Given the description of an element on the screen output the (x, y) to click on. 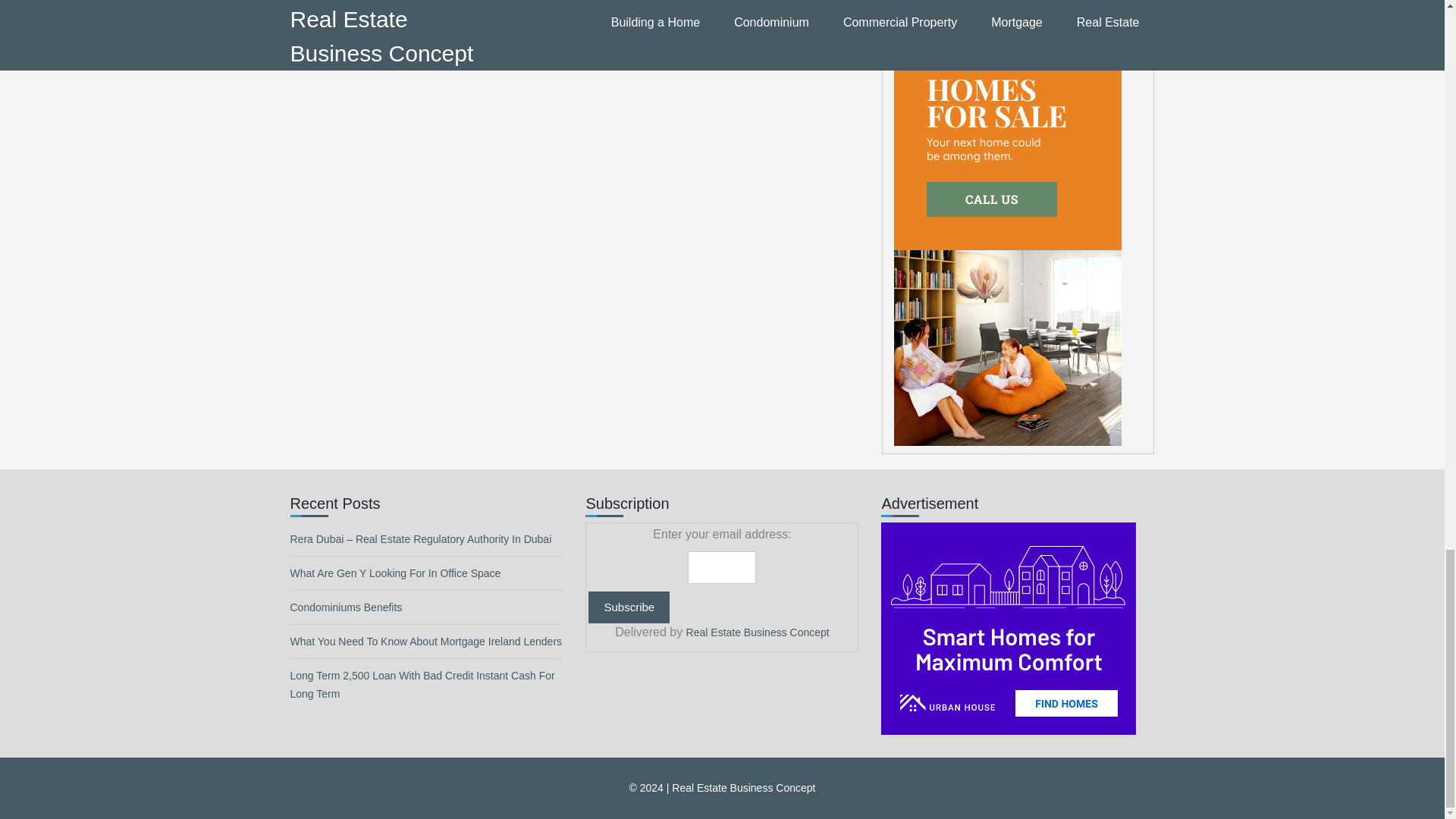
Subscribe (628, 607)
